Given the description of an element on the screen output the (x, y) to click on. 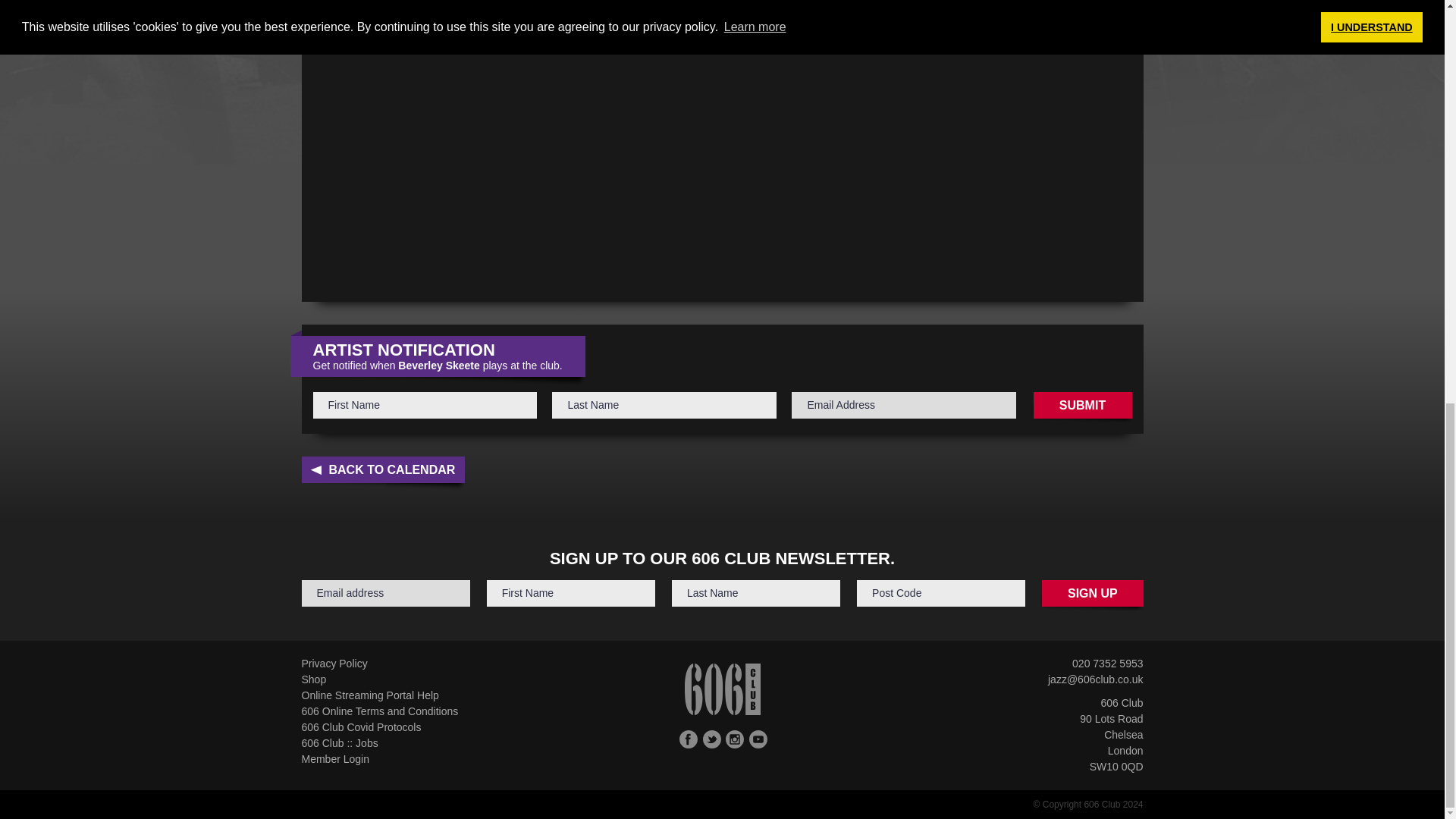
Photo courtesy: Ans van Heck Photography (414, 27)
www.beverleyskeete.com (372, 1)
BACK TO CALENDAR (383, 469)
Shop (313, 679)
Privacy Policy (334, 663)
SIGN UP (1092, 592)
Privacy Policy (334, 663)
Online Streaming Portal Help (370, 695)
SUBMIT (1081, 405)
